Given the description of an element on the screen output the (x, y) to click on. 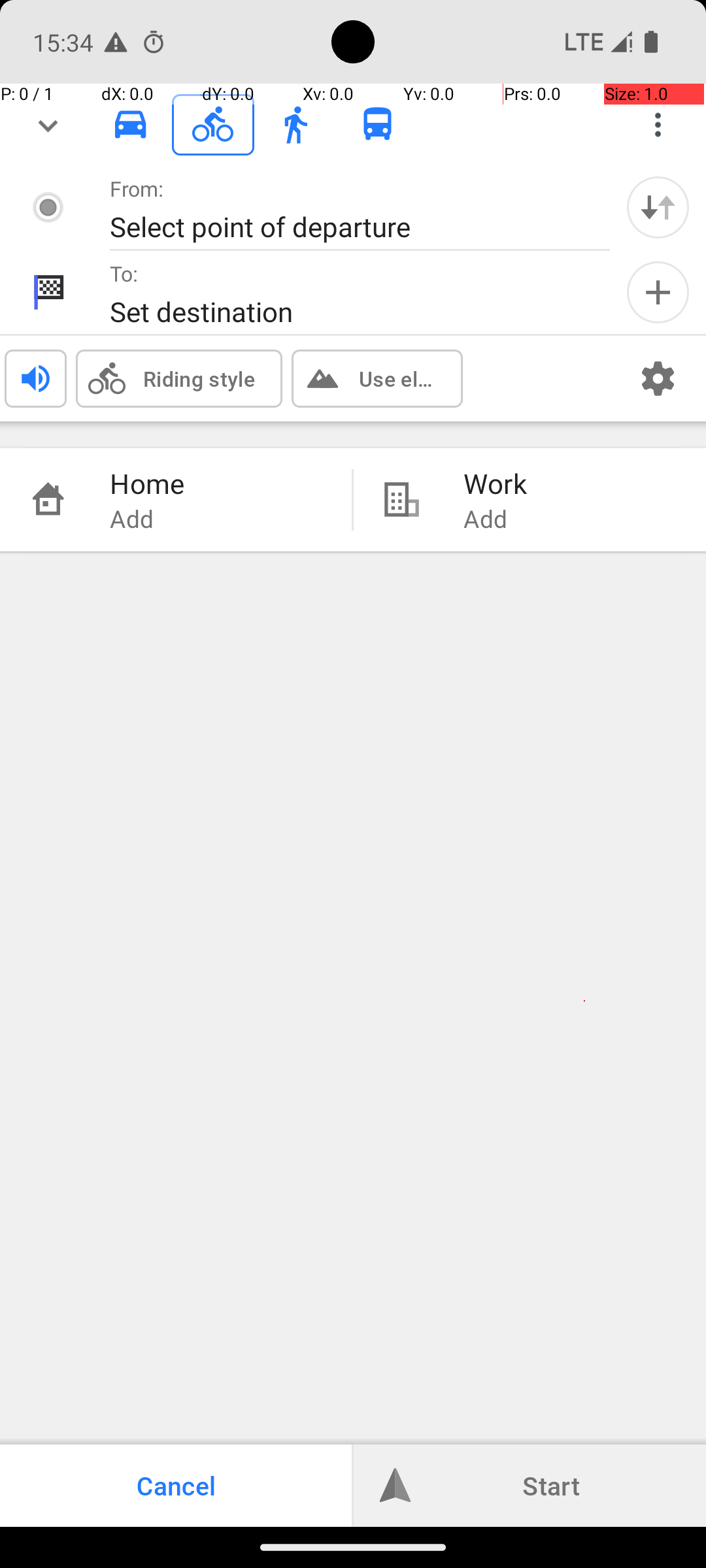
fold/unfold Element type: android.widget.ImageView (48, 124)
Choose app modes Element type: android.widget.ImageView (657, 124)
Driving Element type: android.widget.FrameLayout (130, 124)
Cycling Element type: android.widget.FrameLayout (212, 124)
Walking Element type: android.widget.FrameLayout (295, 124)
Public transport Element type: android.widget.FrameLayout (377, 124)
From: Element type: android.widget.TextView (136, 188)
Select point of departure Element type: android.widget.TextView (345, 226)
Swap Element type: android.widget.FrameLayout (657, 207)
To: Element type: android.widget.TextView (123, 273)
Set destination Element type: android.widget.TextView (345, 310)
Driving unchecked Element type: android.widget.ImageView (130, 124)
Cycling checked Element type: android.widget.ImageView (212, 124)
Walking unchecked Element type: android.widget.ImageView (294, 124)
Public transport unchecked Element type: android.widget.ImageView (377, 124)
Riding style Element type: android.widget.TextView (198, 378)
Use elevation data Element type: android.widget.TextView (396, 378)
